Given the description of an element on the screen output the (x, y) to click on. 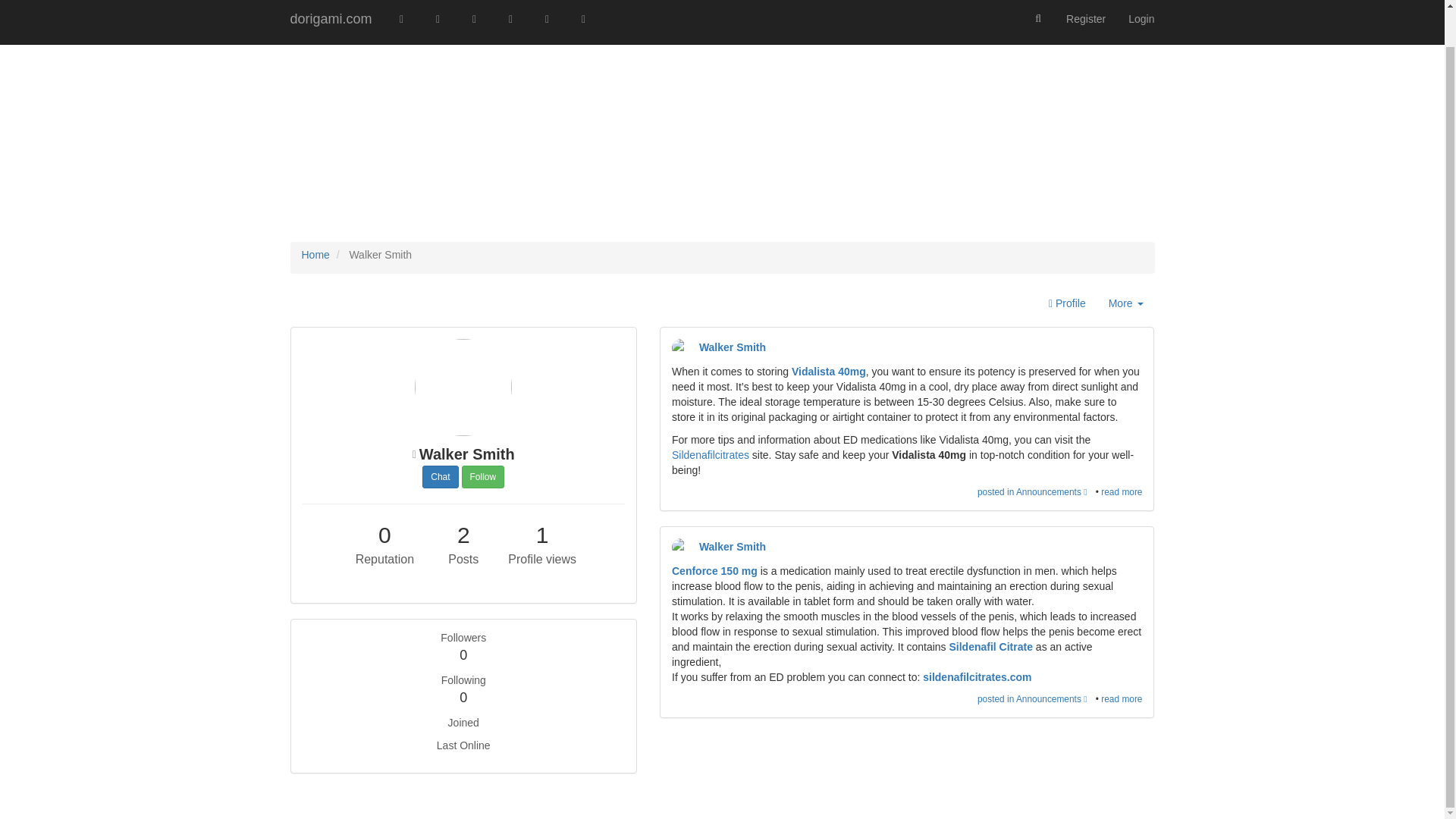
Walker Smith (680, 348)
Walker Smith (729, 546)
0 (462, 698)
1 (541, 534)
Walker Smith (729, 346)
Profile (1066, 304)
Walker Smith (680, 547)
Chat (440, 477)
Offline (414, 456)
posted in Announcements (1036, 491)
0 (462, 655)
2 (463, 534)
Home (315, 254)
Cenforce 150 mg (1125, 304)
